Given the description of an element on the screen output the (x, y) to click on. 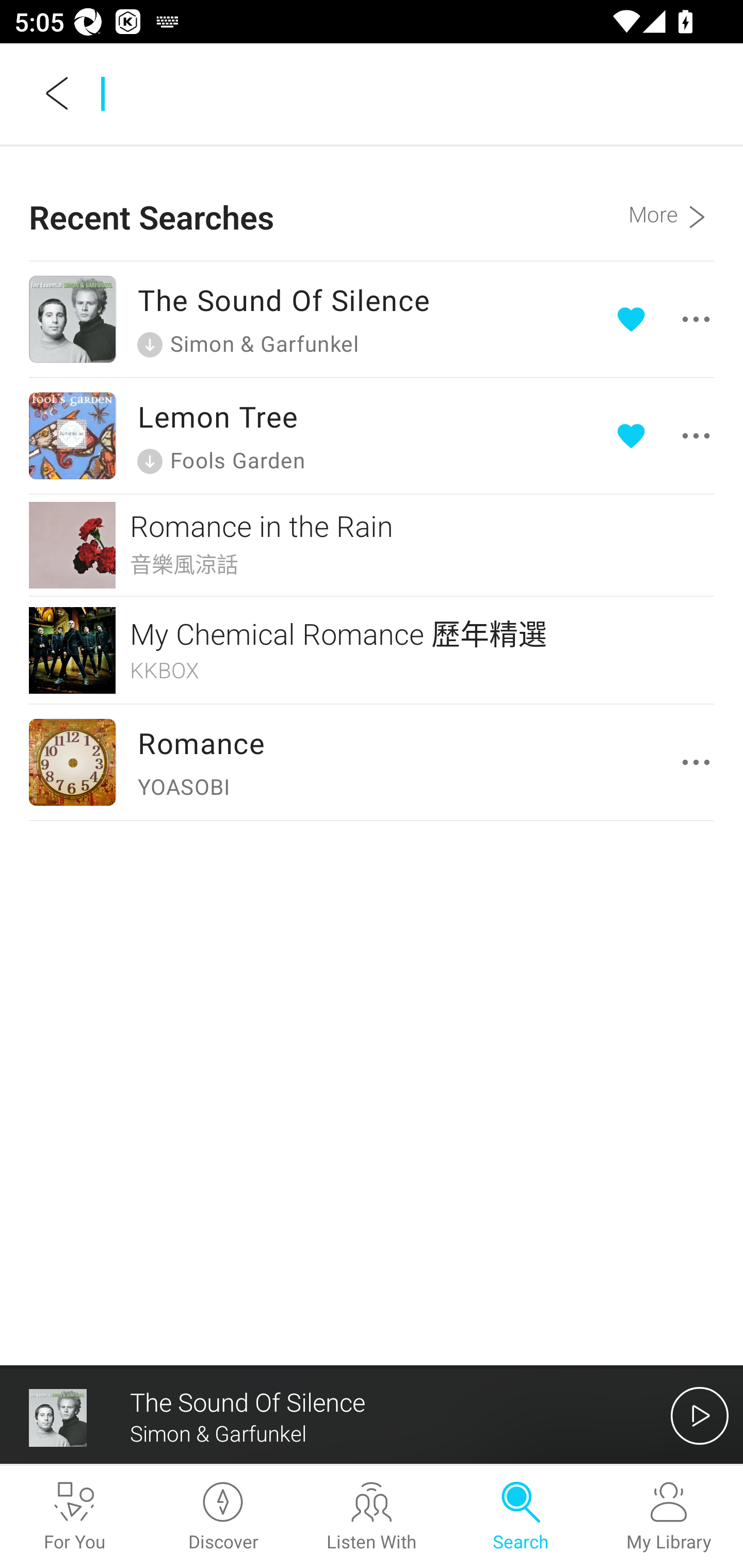
Back,outside of the list (57, 93)
More Recent Searches More (671, 202)
The Sound Of Silence 已下載 Simon & Garfunkel 更多操作選項 (371, 318)
更多操作選項 (667, 318)
Lemon Tree 已下載 Fools Garden 更多操作選項 (371, 435)
更多操作選項 (667, 435)
Romance in the Rain 音樂風涼話 (371, 544)
My Chemical Romance 歷年精選 KKBOX (371, 650)
Romance YOASOBI 更多操作選項 (371, 762)
更多操作選項 (699, 761)
開始播放 (699, 1415)
For You (74, 1517)
Discover (222, 1517)
Listen With (371, 1517)
Search (519, 1517)
My Library (668, 1517)
